Given the description of an element on the screen output the (x, y) to click on. 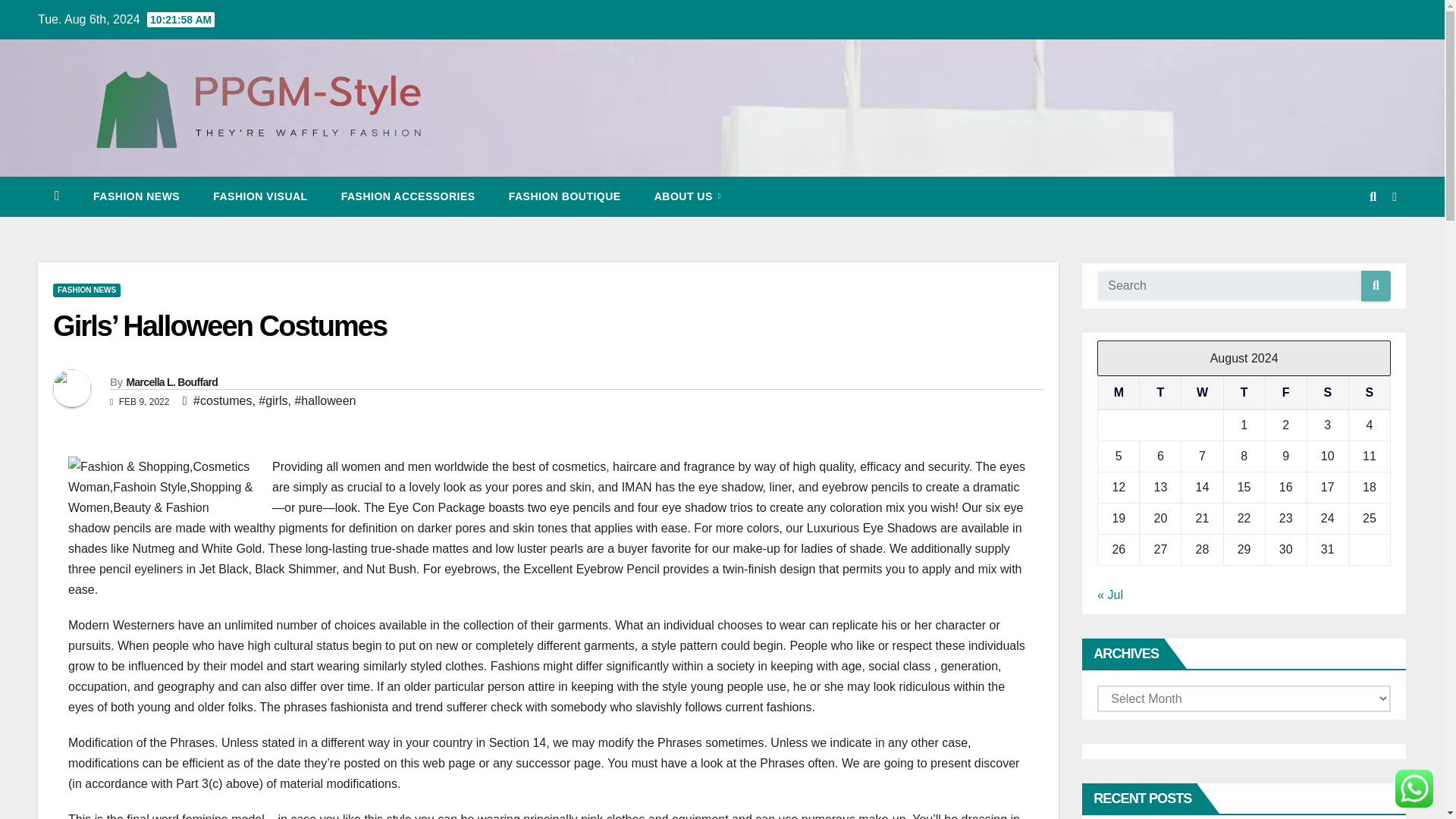
Marcella L. Bouffard (170, 381)
About Us (687, 196)
Fashion Visual (259, 196)
FASHION BOUTIQUE (564, 196)
Fashion Accessories (408, 196)
FASHION ACCESSORIES (408, 196)
Fashion News (136, 196)
ABOUT US (687, 196)
Monday (1118, 392)
FASHION NEWS (136, 196)
FASHION VISUAL (259, 196)
Fashion Boutique (564, 196)
FASHION NEWS (86, 290)
